Given the description of an element on the screen output the (x, y) to click on. 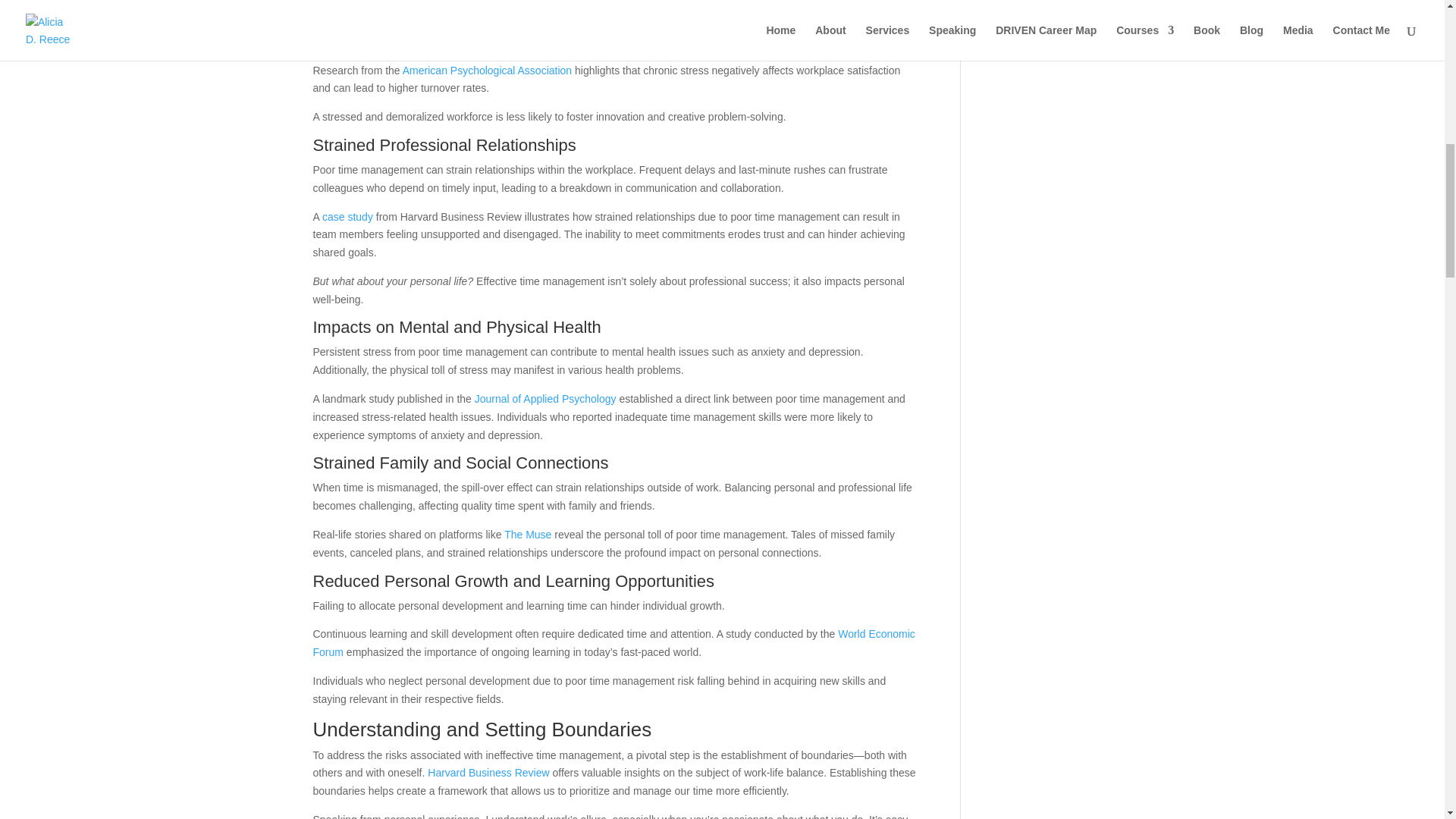
case study (346, 216)
World Economic Forum (613, 643)
Harvard Business Review (488, 772)
Journal of Applied Psychology (544, 398)
American Psychological Association (487, 70)
The Muse (527, 534)
